Given the description of an element on the screen output the (x, y) to click on. 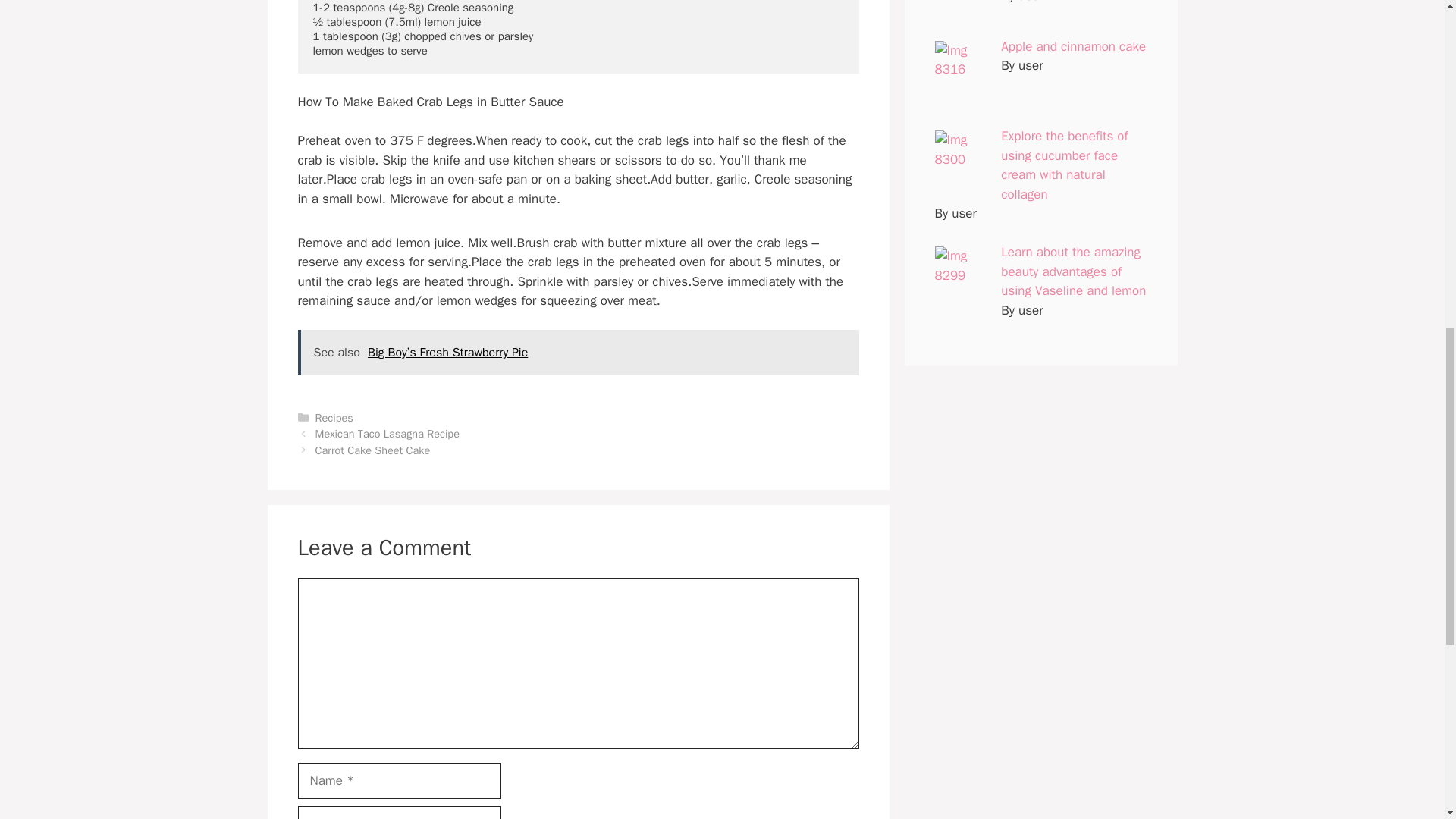
Recipes (334, 418)
Apple and cinnamon cake (1073, 46)
Mexican Taco Lasagna Recipe (387, 433)
Carrot Cake Sheet Cake (372, 450)
